Given the description of an element on the screen output the (x, y) to click on. 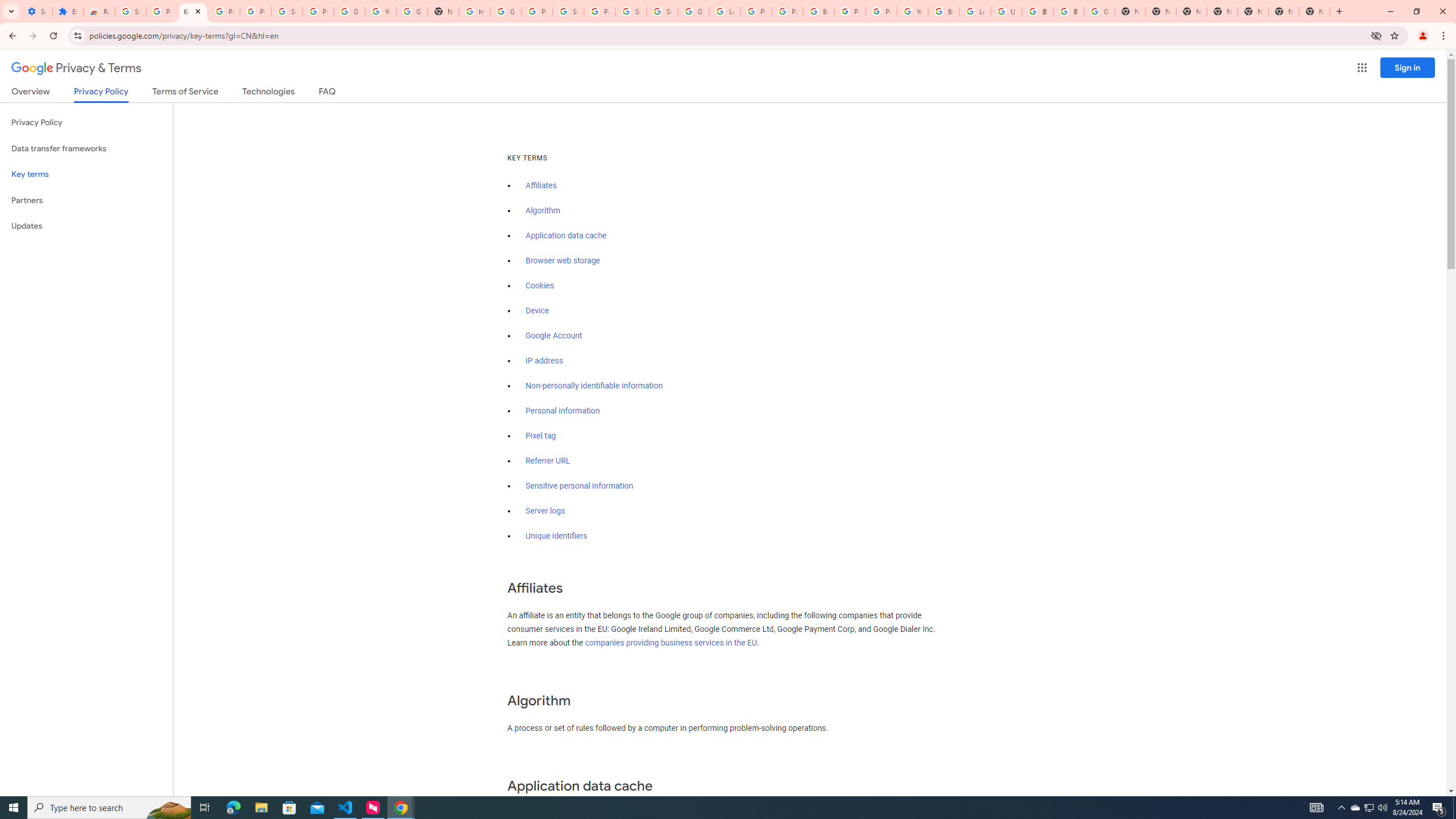
Algorithm (542, 210)
New Tab (1222, 11)
Data transfer frameworks (86, 148)
YouTube (912, 11)
Cookies (539, 285)
companies providing business services in the EU (671, 642)
